Given the description of an element on the screen output the (x, y) to click on. 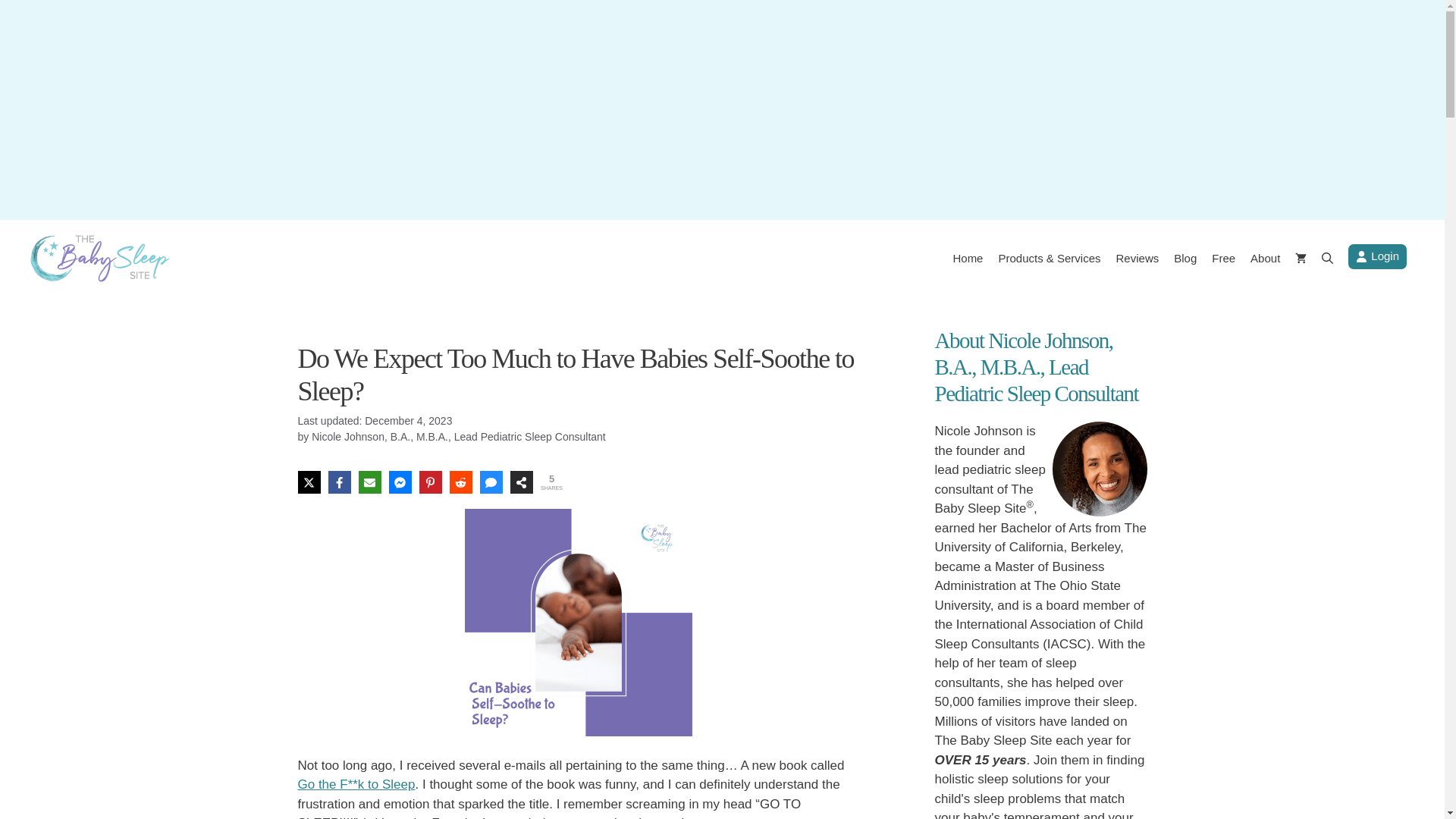
Home (967, 258)
Home (967, 258)
About (1265, 258)
Login (1377, 256)
About (1265, 258)
Reviews (1137, 258)
Reviews (1137, 258)
